Given the description of an element on the screen output the (x, y) to click on. 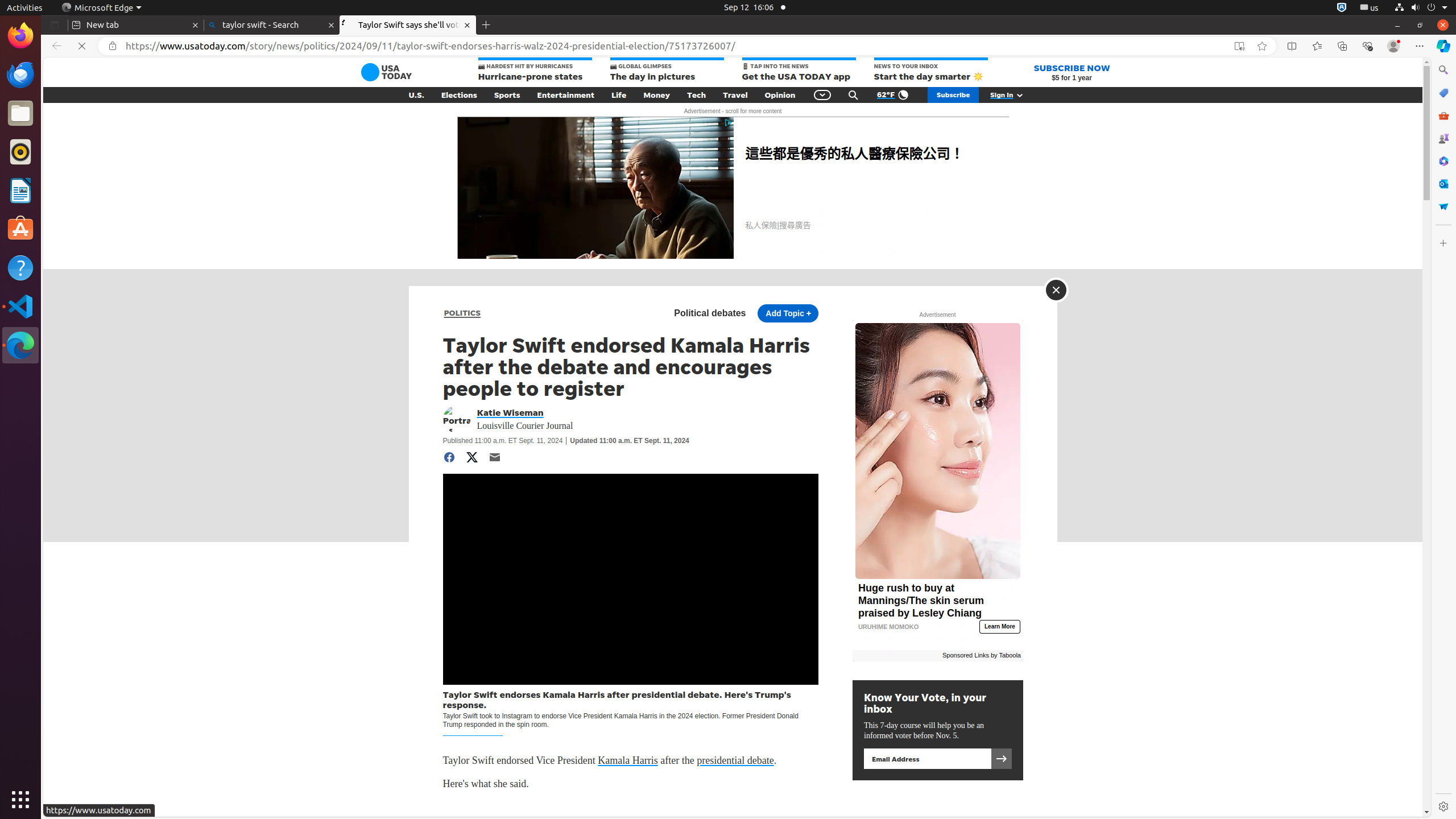
Drop Element type: push-button (1443, 206)
SUBSCRIBE NOW $5 for 1 year Element type: link (1071, 72)
Sign In Element type: link (1012, 94)
POLITICS Element type: link (462, 312)
Taylor Swift says she'll vote for Harris, Walz in 2024 election Element type: page-tab (407, 25)
